Given the description of an element on the screen output the (x, y) to click on. 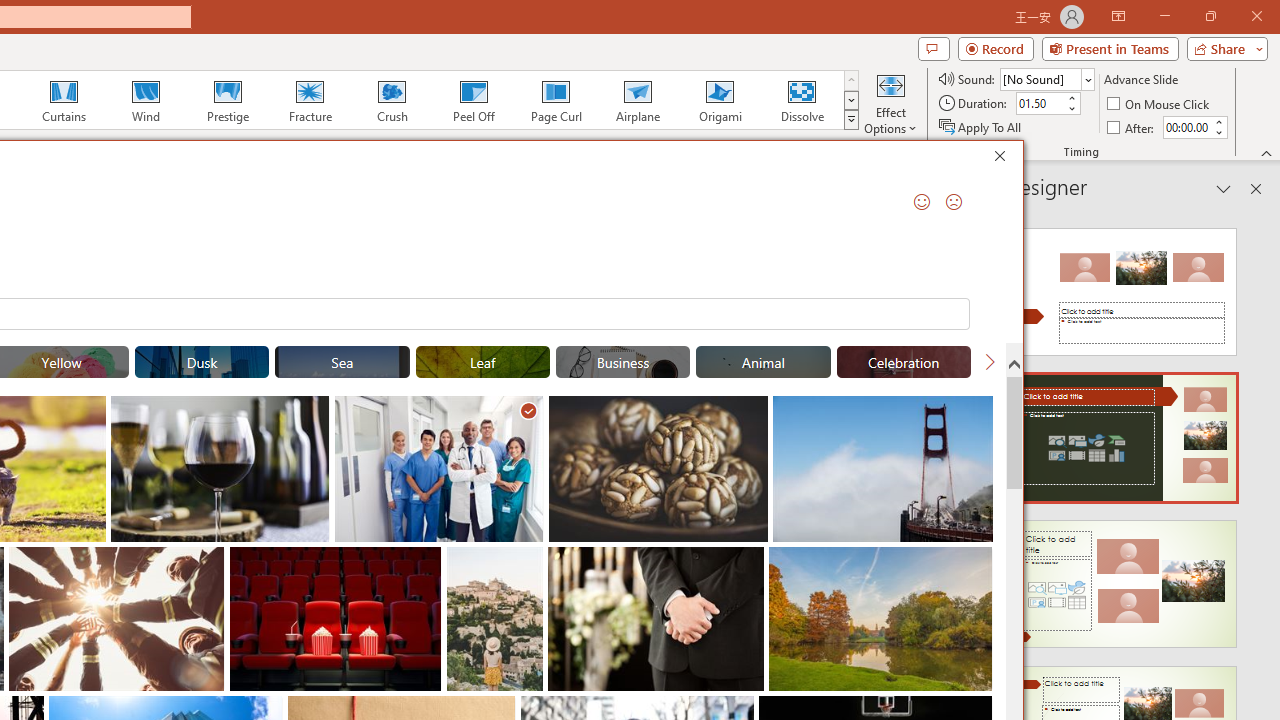
"Business" Stock Images. (622, 362)
Dissolve (802, 100)
Task Pane Options (1224, 188)
Less (1218, 132)
"Dusk" Stock Images. (201, 362)
Peel Off (473, 100)
Crush (391, 100)
Next Search Suggestion (990, 362)
Effect Options (890, 102)
Row Down (850, 100)
Curtains (63, 100)
Thumbnail (977, 561)
